Given the description of an element on the screen output the (x, y) to click on. 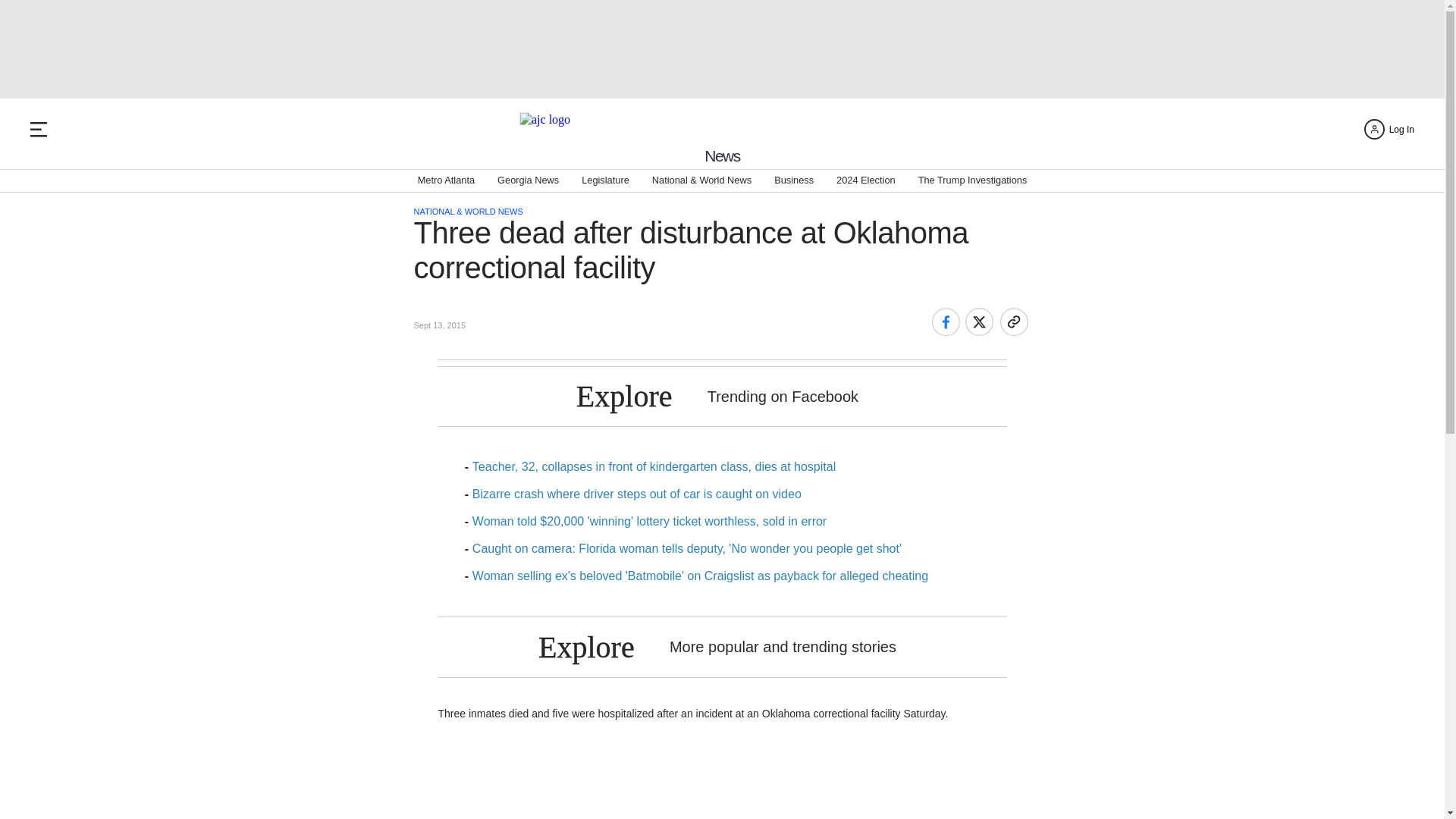
News (721, 155)
Georgia News (528, 180)
The Trump Investigations (972, 180)
Metro Atlanta (445, 180)
2024 Election (865, 180)
Legislature (604, 180)
Business (793, 180)
